Given the description of an element on the screen output the (x, y) to click on. 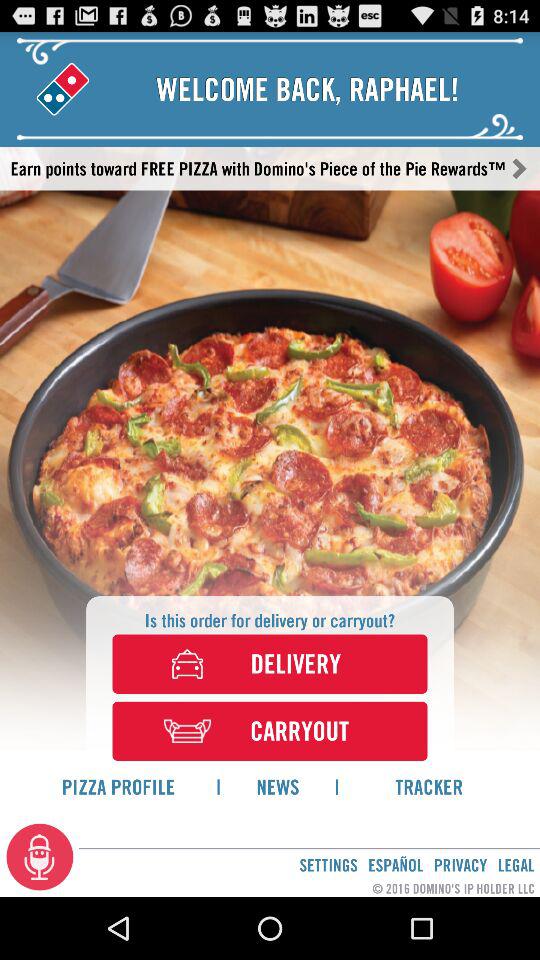
press the legal item (516, 864)
